Given the description of an element on the screen output the (x, y) to click on. 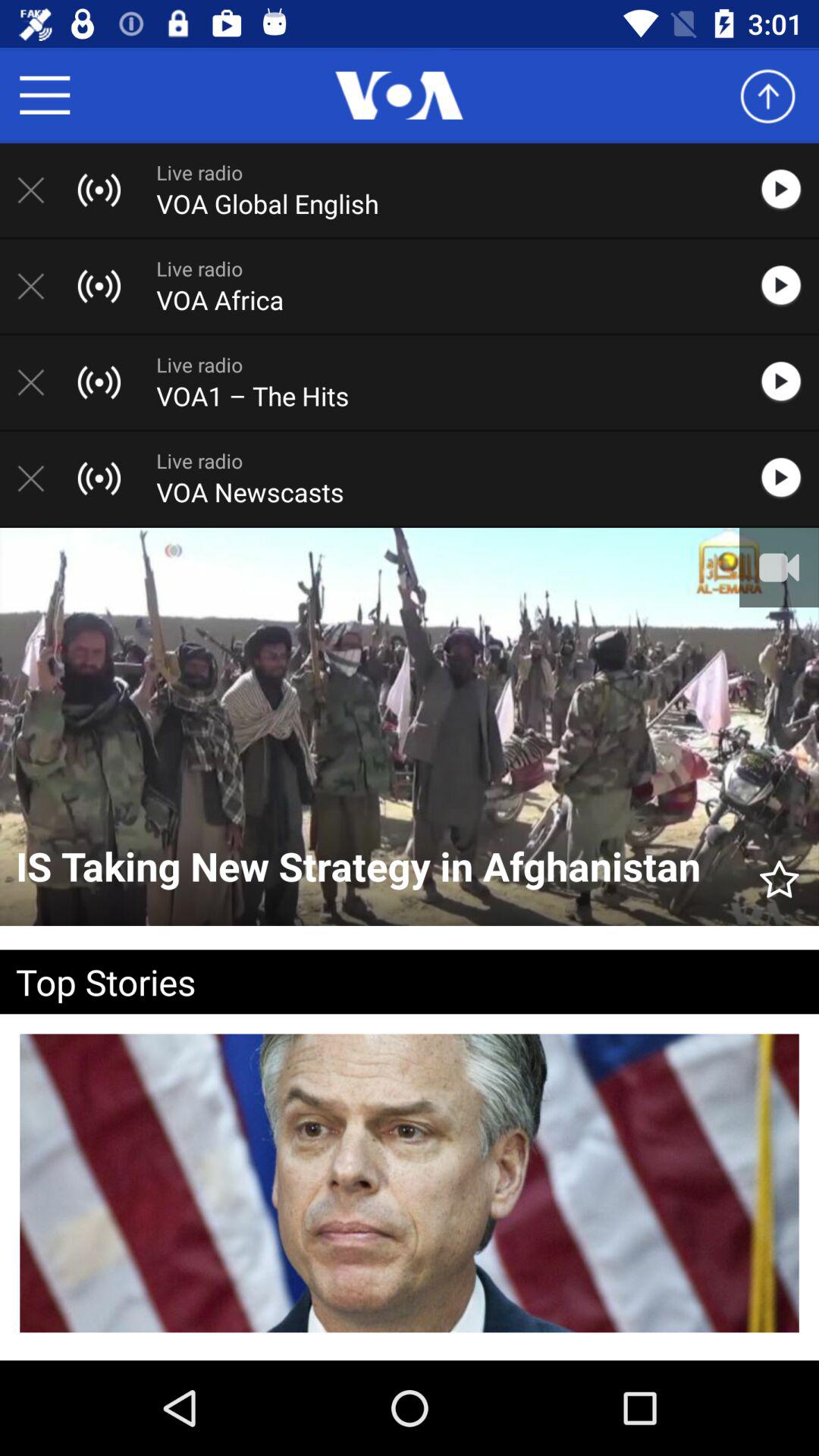
swipe until the top stories item (385, 981)
